Given the description of an element on the screen output the (x, y) to click on. 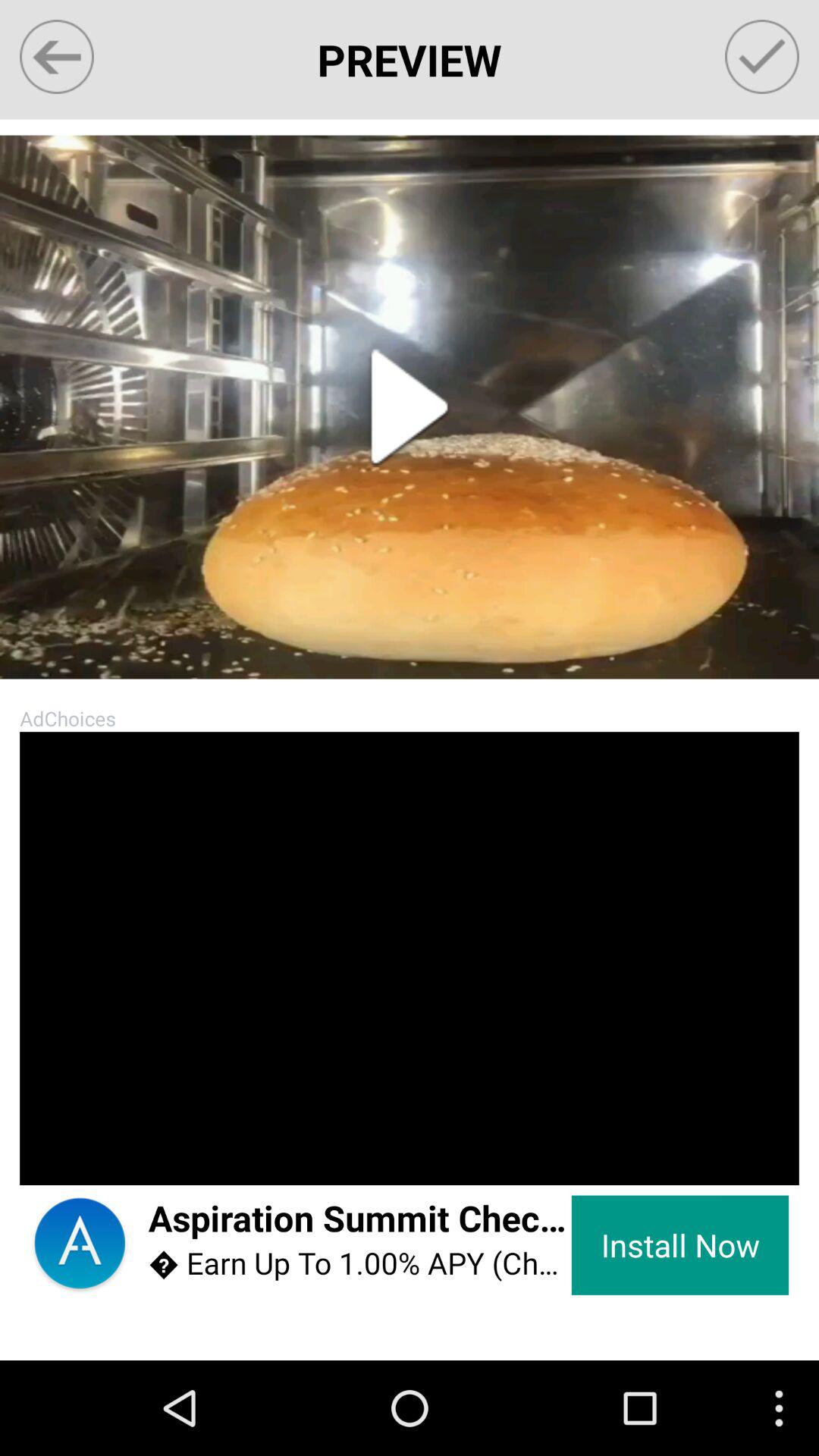
scroll to the earn up to app (359, 1263)
